Given the description of an element on the screen output the (x, y) to click on. 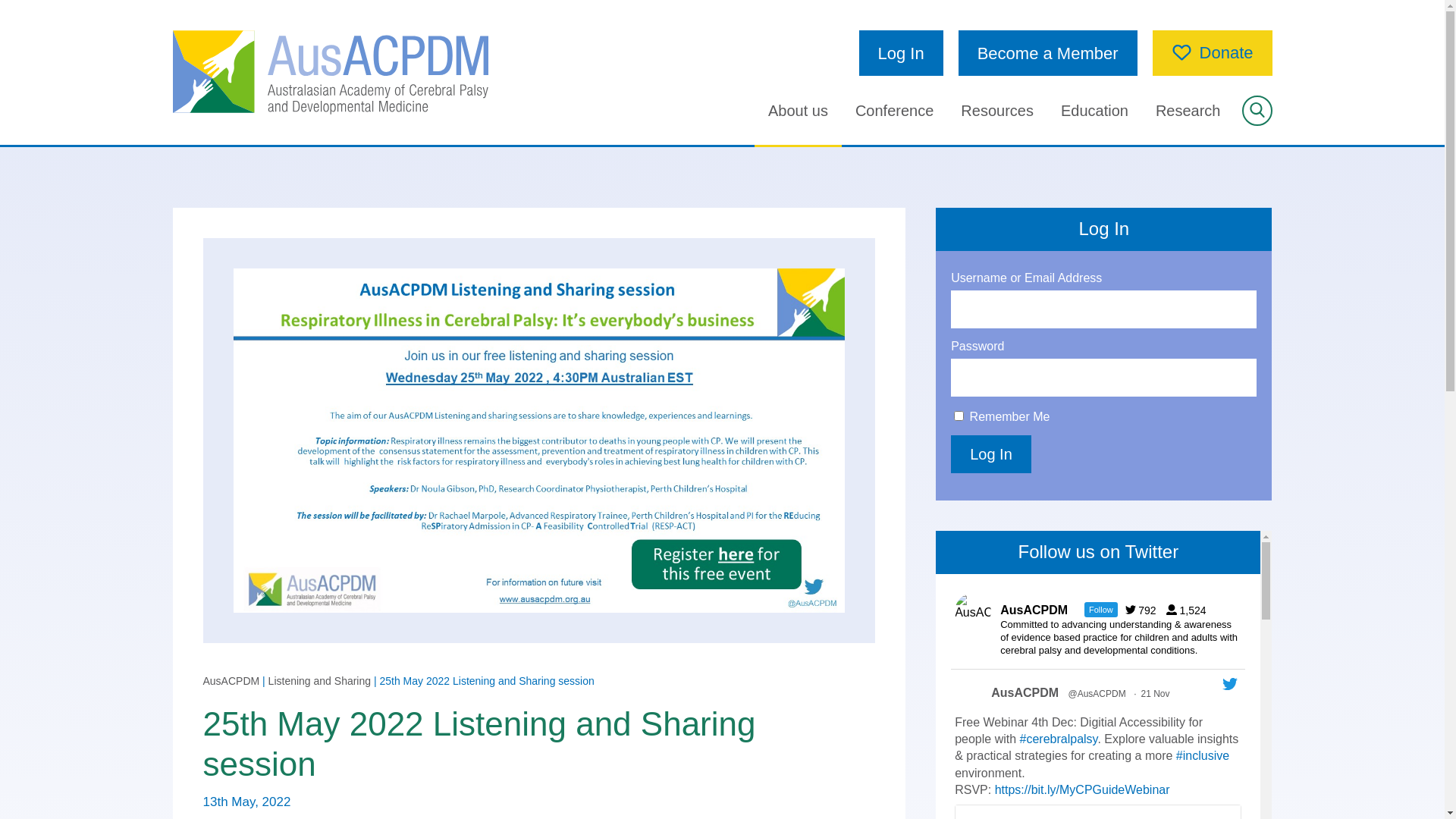
AusACPDM Element type: text (1024, 693)
; Element type: text (970, 697)
AusACPDM Element type: text (231, 680)
About us Element type: text (797, 109)
AusACPDM Element type: hover (330, 72)
Education Element type: text (1094, 109)
Listening and Sharing Element type: text (319, 680)
Become a Member Element type: text (1047, 52)
https://bit.ly/MyCPGuideWebinar Element type: text (1082, 789)
Resources Element type: text (997, 109)
Donate Element type: text (1212, 52)
#cerebralpalsy Element type: text (1058, 738)
Conference Element type: text (894, 109)
@AusACPDM Element type: text (1096, 693)
#inclusive Element type: text (1202, 755)
21 Nov 1727102566465745389 Element type: text (1155, 693)
Log In Element type: text (990, 454)
Log In Element type: text (901, 52)
Research Element type: text (1188, 109)
